Given the description of an element on the screen output the (x, y) to click on. 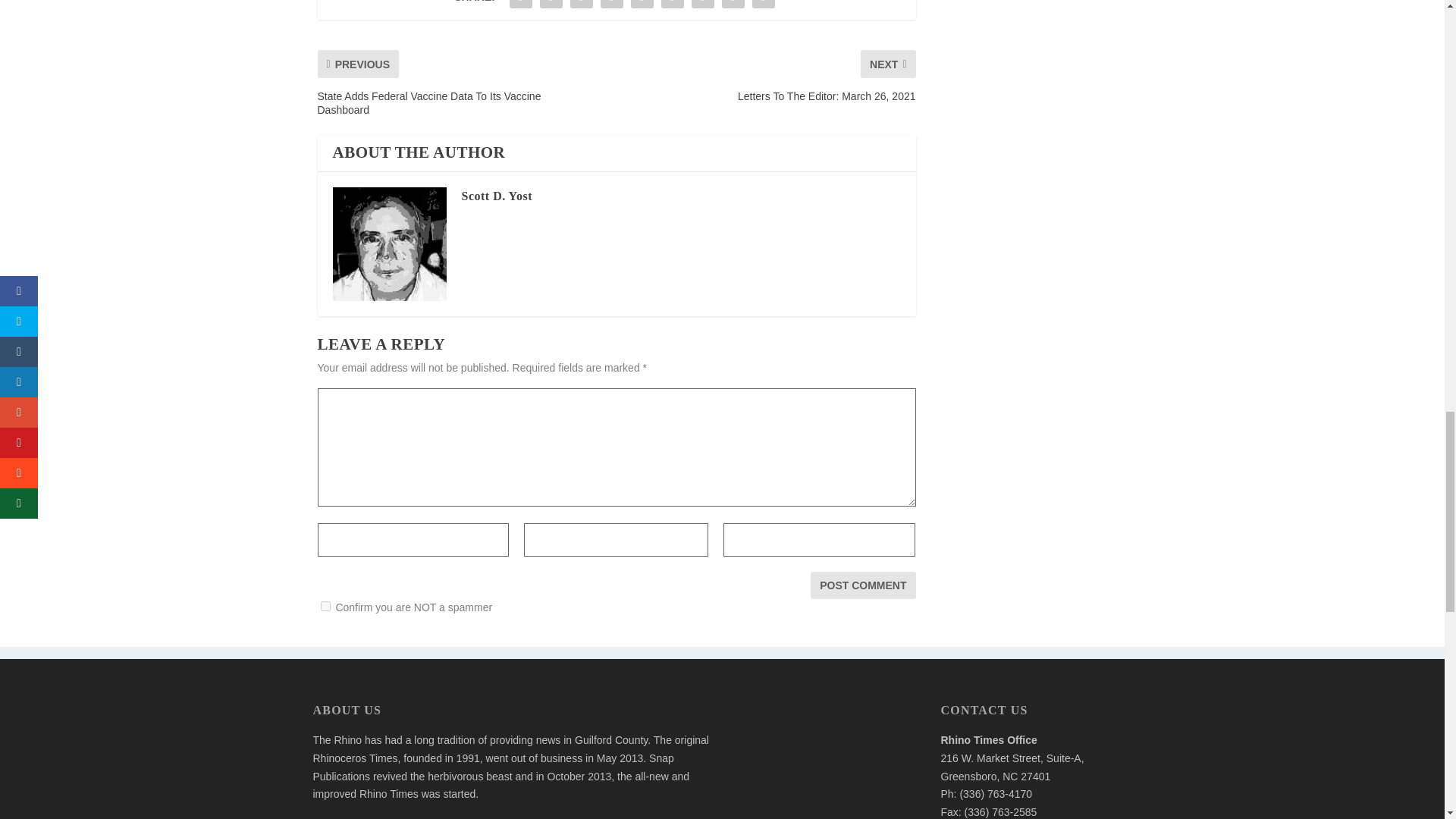
Post Comment (862, 584)
Advertisement (825, 761)
on (325, 605)
View all posts by Scott D. Yost (496, 195)
